Given the description of an element on the screen output the (x, y) to click on. 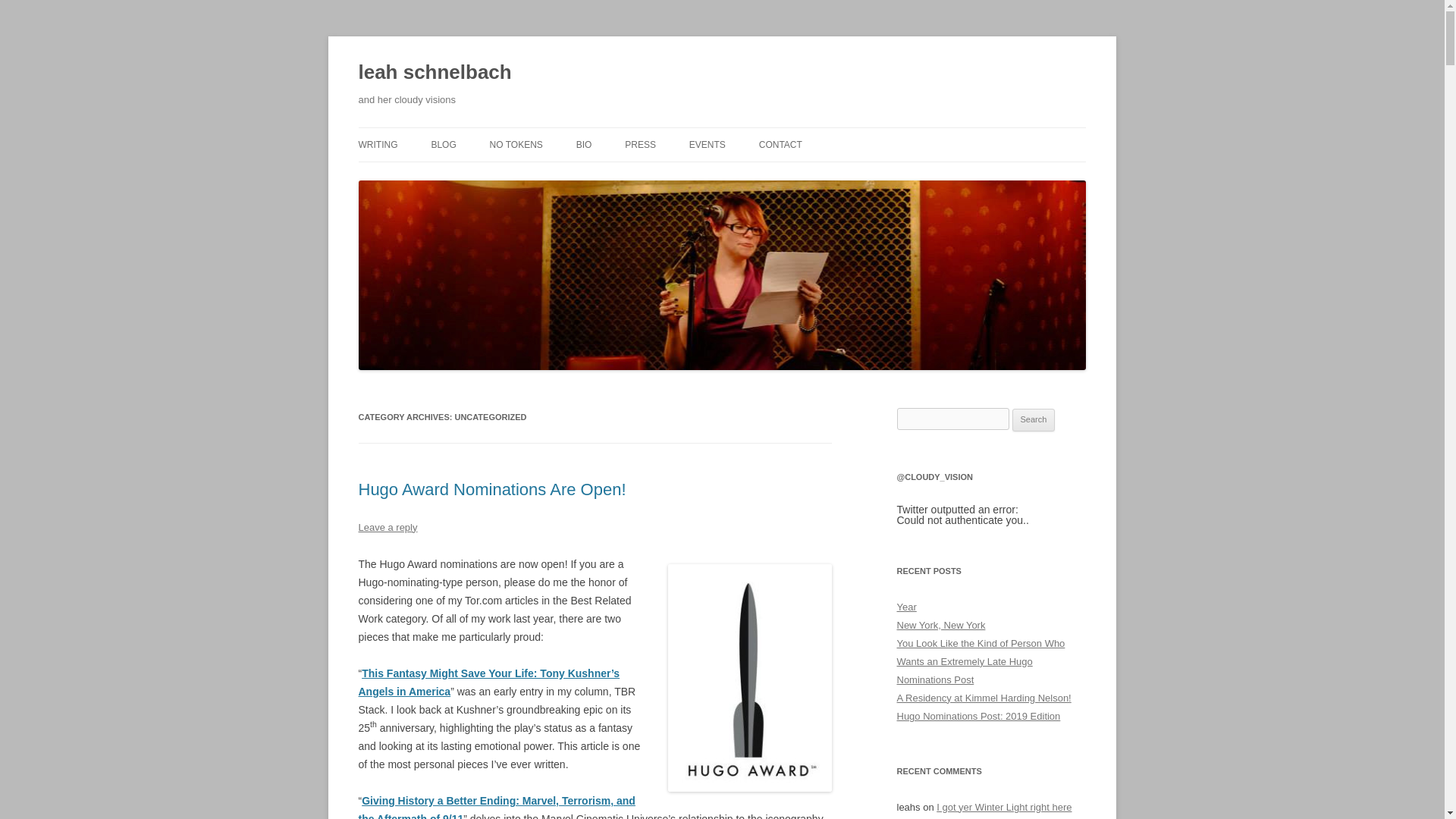
leah schnelbach  (434, 72)
Hugo Award Nominations Are Open! (492, 488)
Leave a reply (387, 527)
PRESS (640, 144)
leah schnelbach (434, 72)
Search (1033, 419)
WRITING (377, 144)
CONTACT (780, 144)
NO TOKENS (516, 144)
EVENTS (706, 144)
